Given the description of an element on the screen output the (x, y) to click on. 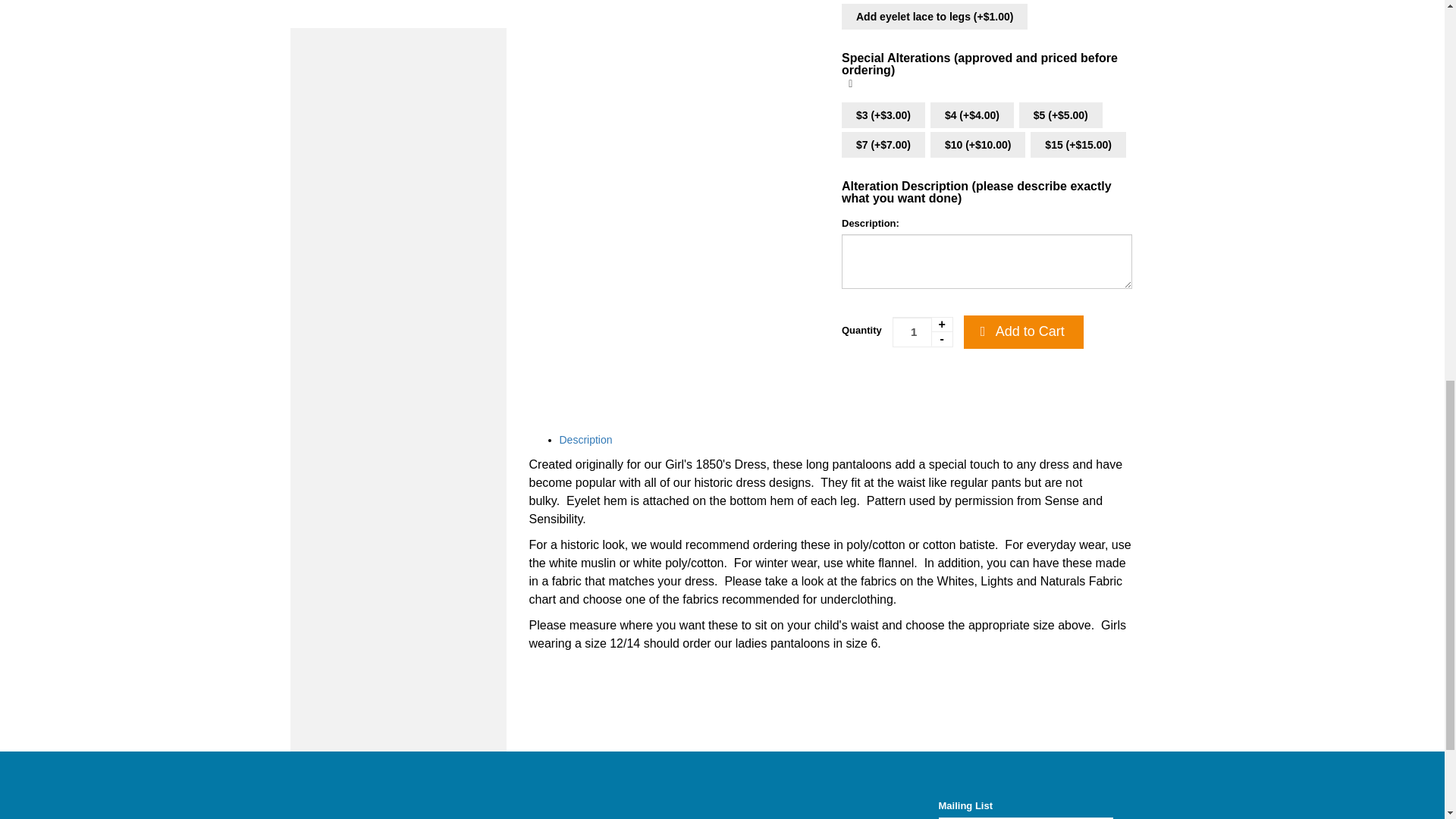
1 (922, 331)
